Given the description of an element on the screen output the (x, y) to click on. 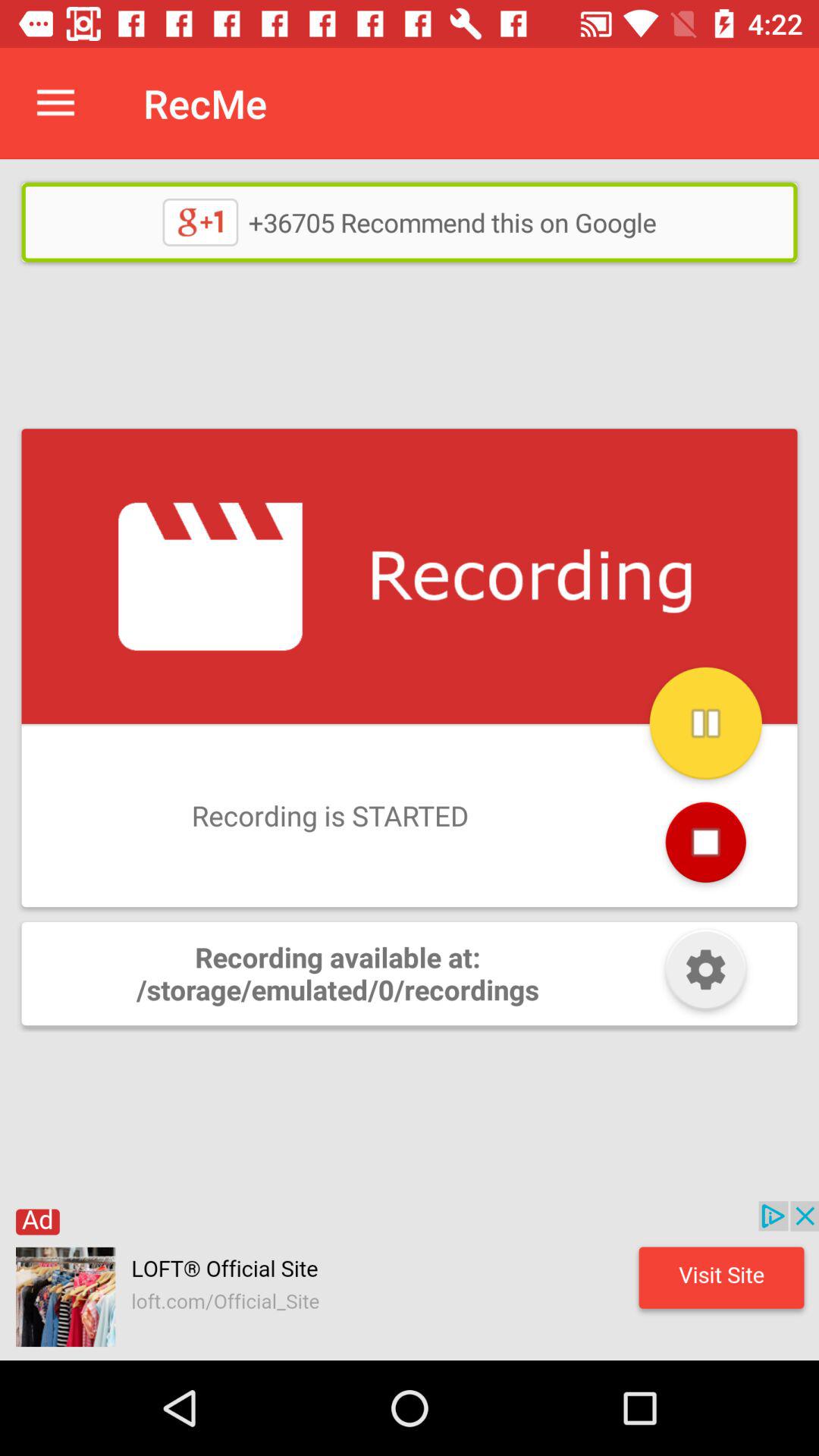
button image (705, 973)
